Given the description of an element on the screen output the (x, y) to click on. 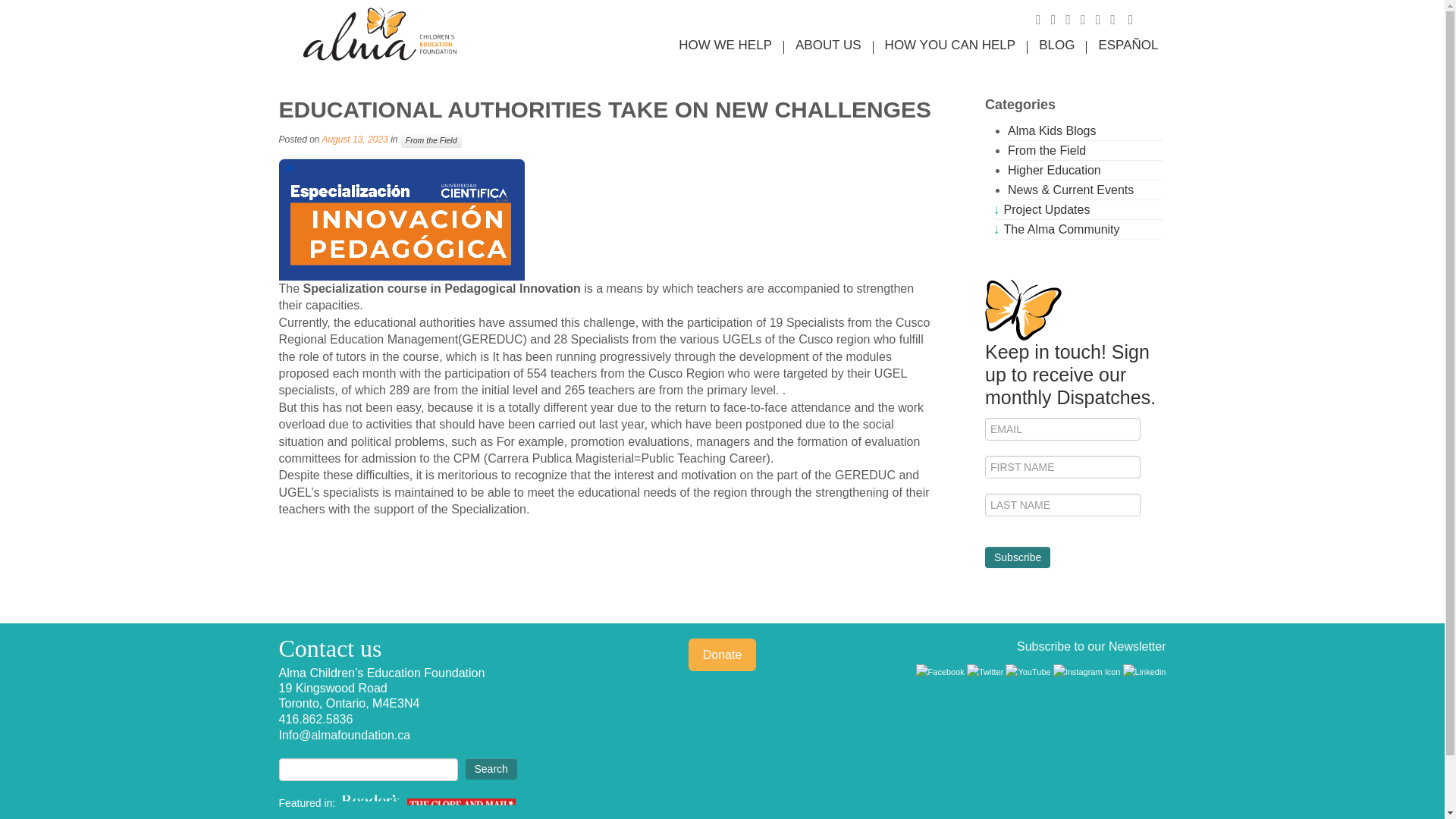
Email Us (1135, 19)
Follow me on Youtube (1103, 19)
BLOG (1056, 44)
Follow me on Facebook (1072, 19)
ABOUT US (828, 44)
HOW WE HELP (724, 44)
Follow me on LinkedIn (1117, 19)
Search (490, 768)
HOW YOU CAN HELP (950, 44)
Subscribe to my rss feed (1043, 19)
